Given the description of an element on the screen output the (x, y) to click on. 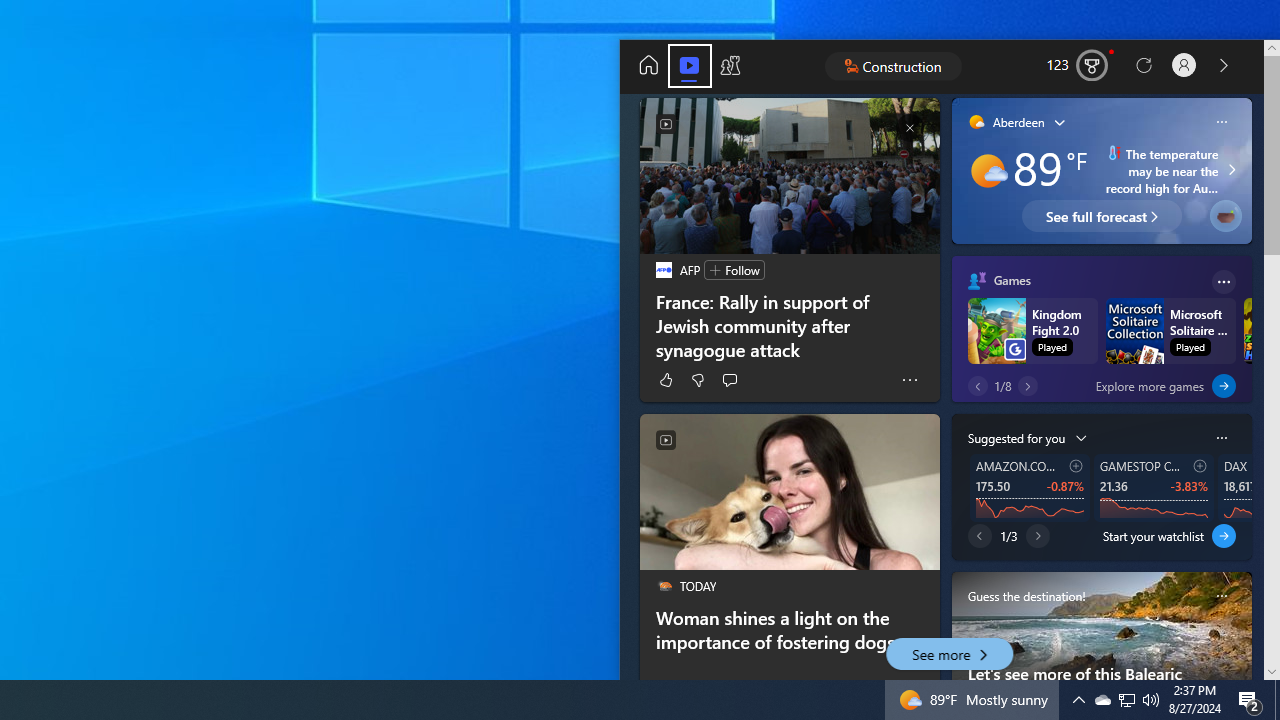
Q2790: 100% (1151, 699)
User Promoted Notification Area (1102, 699)
Action Center, 2 new notifications (1126, 699)
Notification Chevron (1126, 699)
Show desktop (1250, 699)
